Given the description of an element on the screen output the (x, y) to click on. 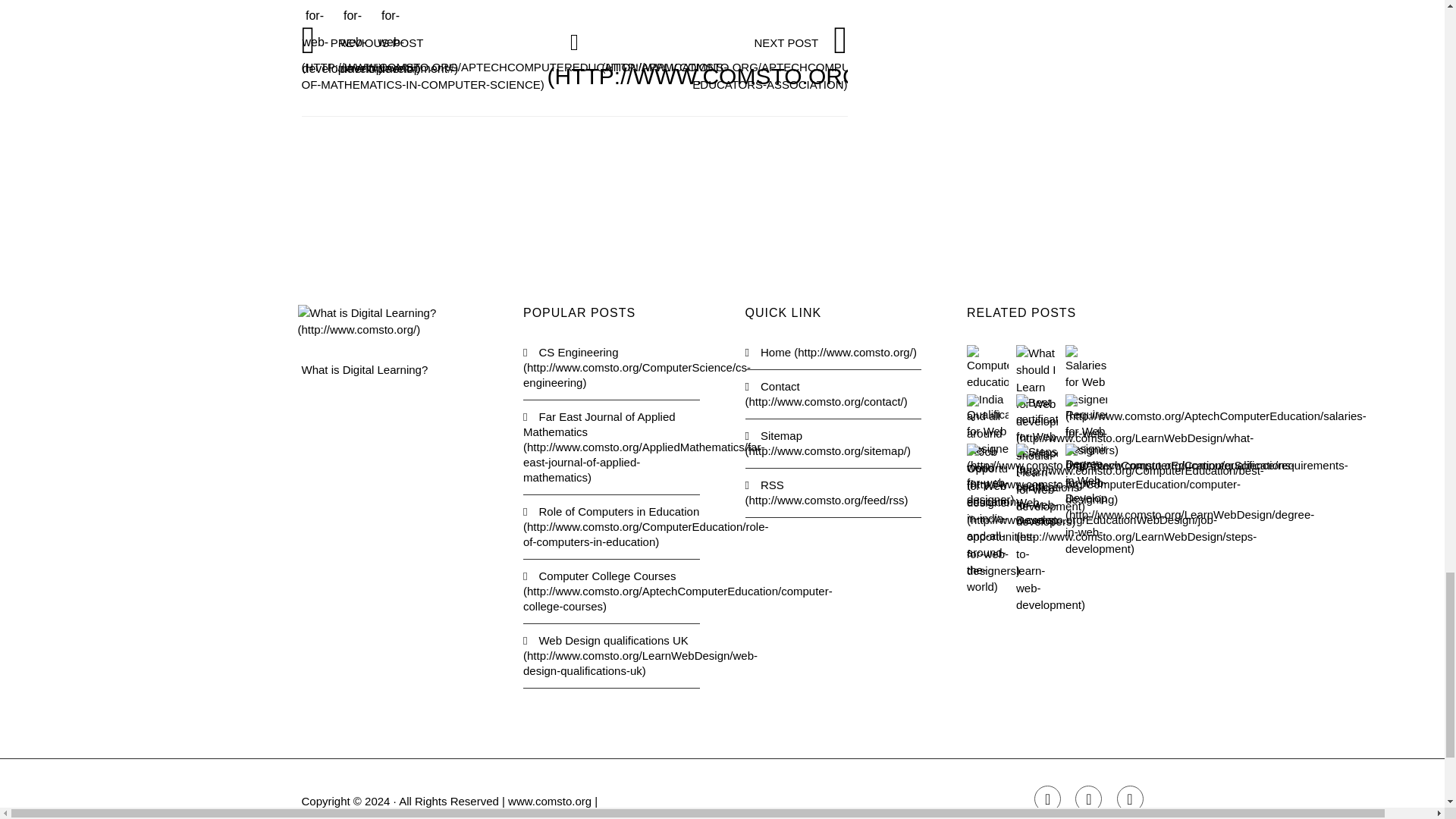
Role of Computers in Education (611, 526)
Far East Journal of Applied Mathematics (611, 447)
PREVIOUS POST (514, 62)
CS Engineering (611, 367)
NEXT POST (793, 62)
